Given the description of an element on the screen output the (x, y) to click on. 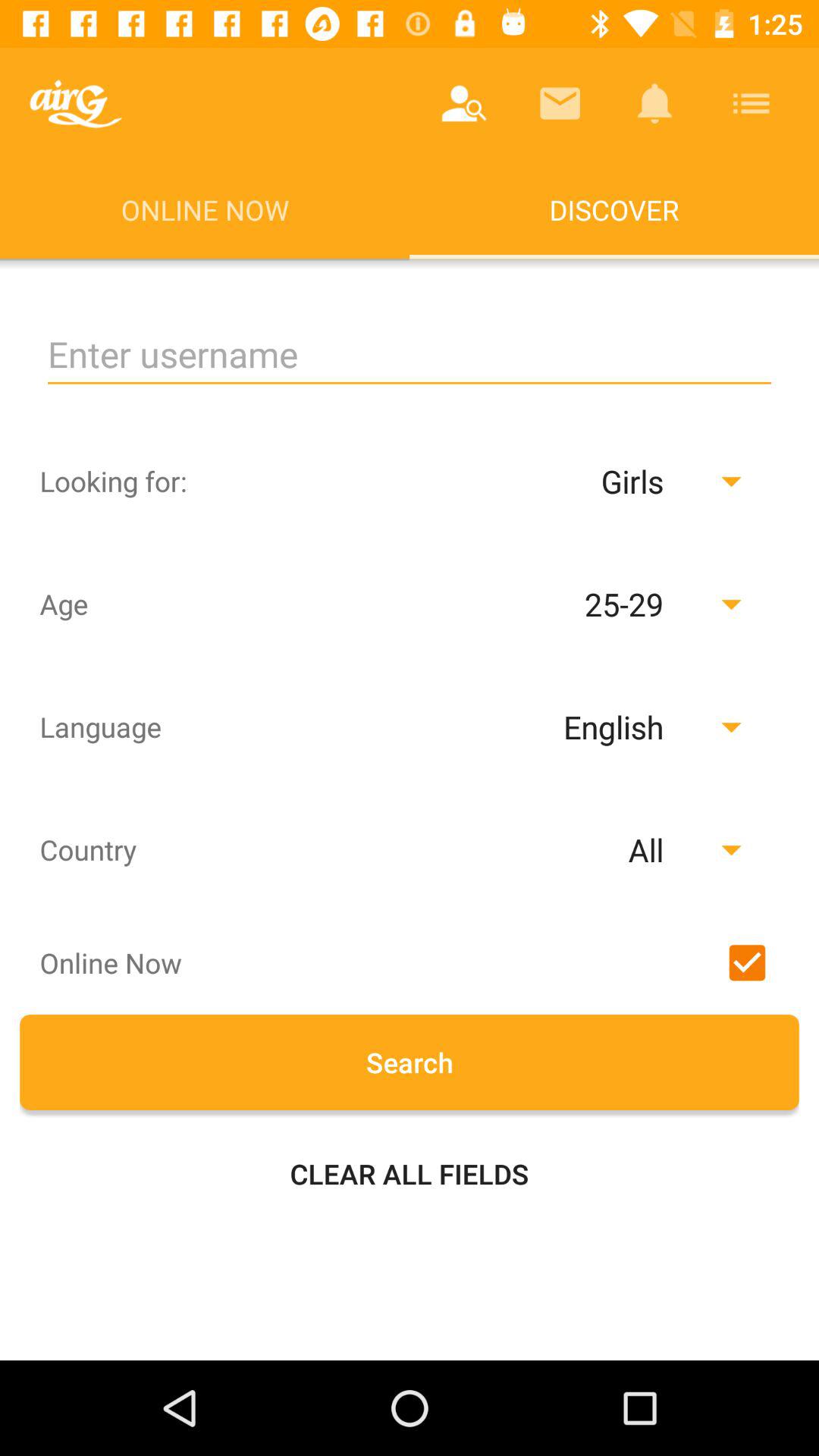
launch clear all fields (409, 1173)
